Given the description of an element on the screen output the (x, y) to click on. 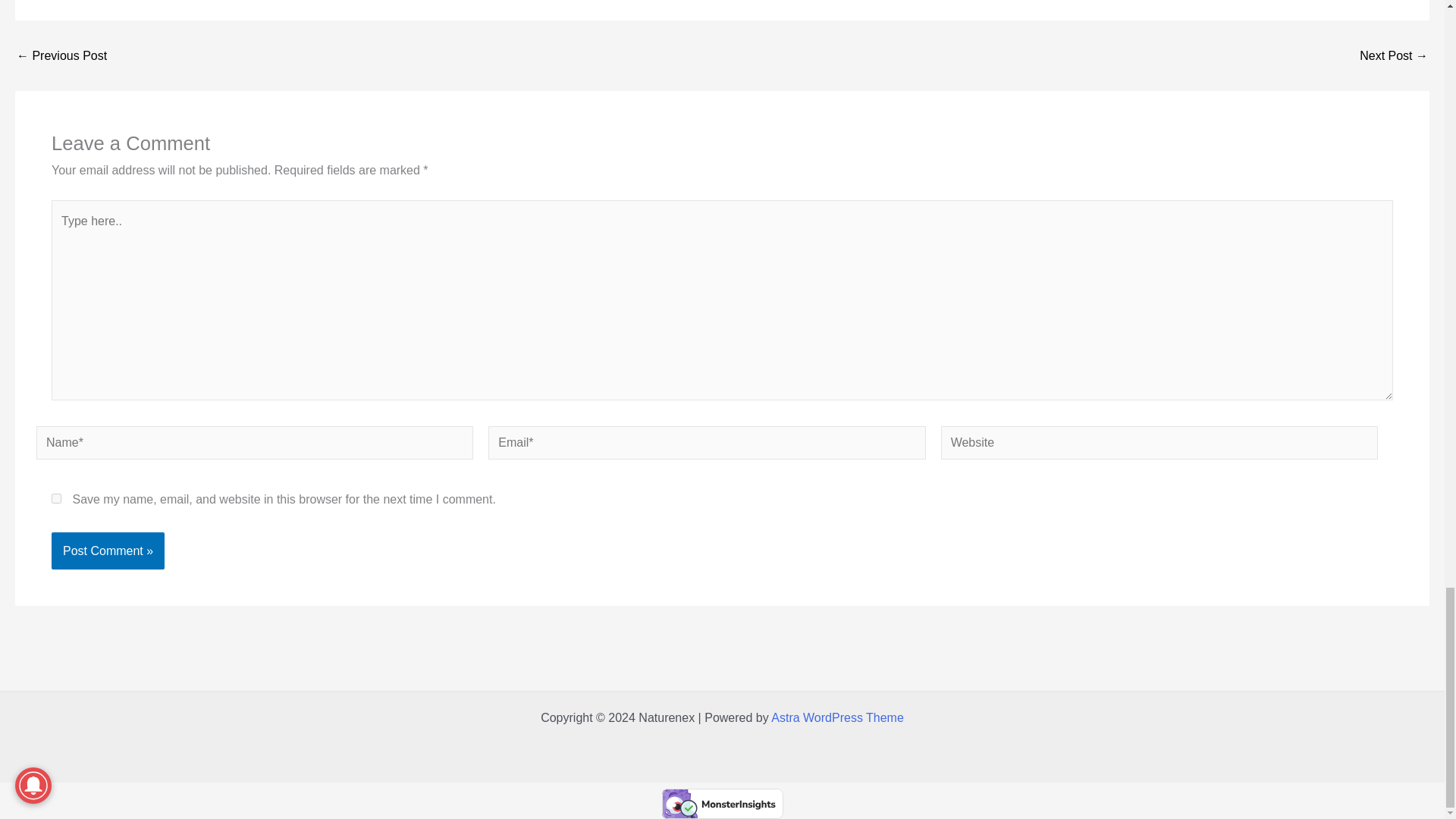
yes (55, 498)
Astra WordPress Theme (837, 717)
